Given the description of an element on the screen output the (x, y) to click on. 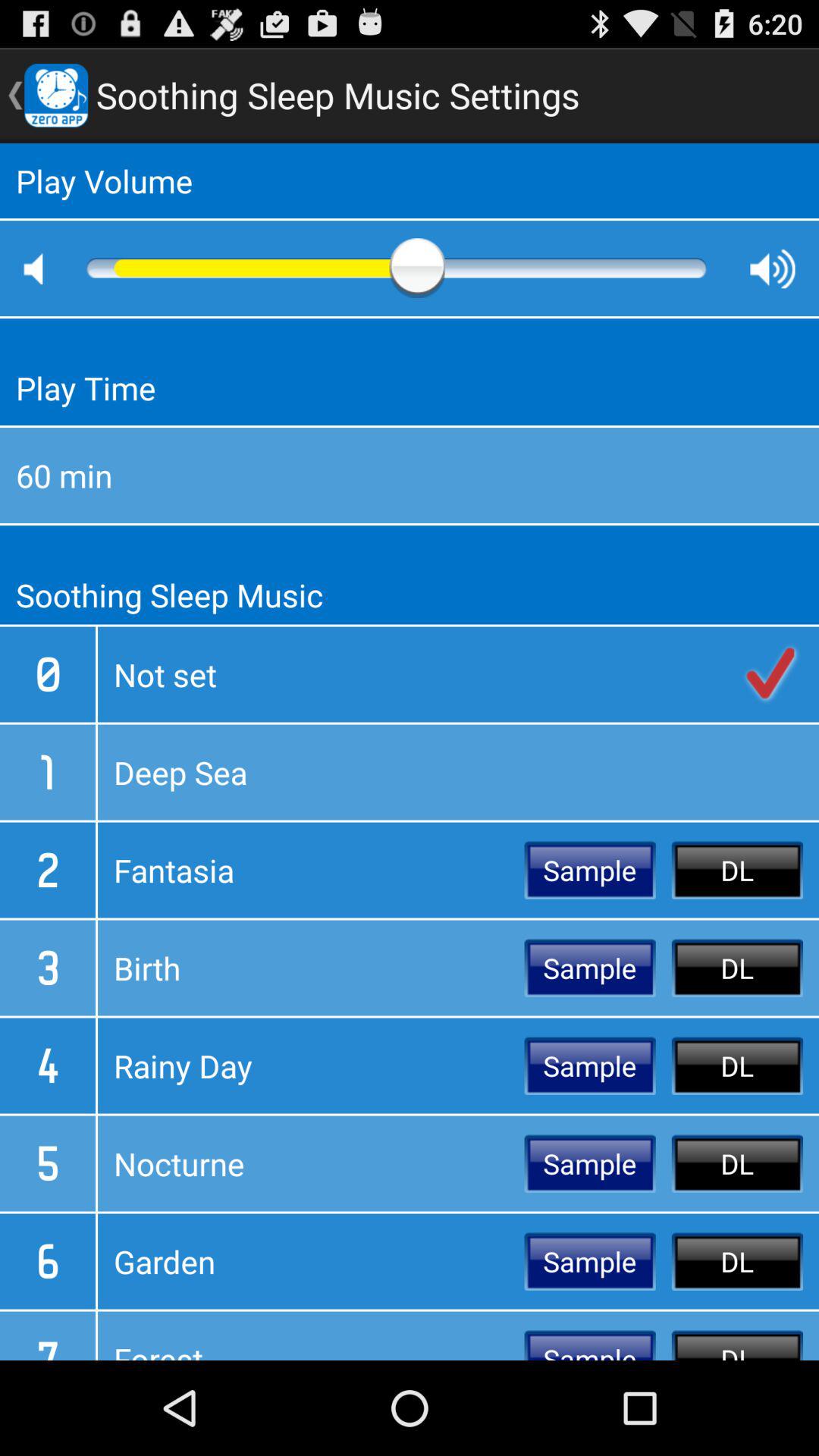
press the garden (310, 1261)
